Given the description of an element on the screen output the (x, y) to click on. 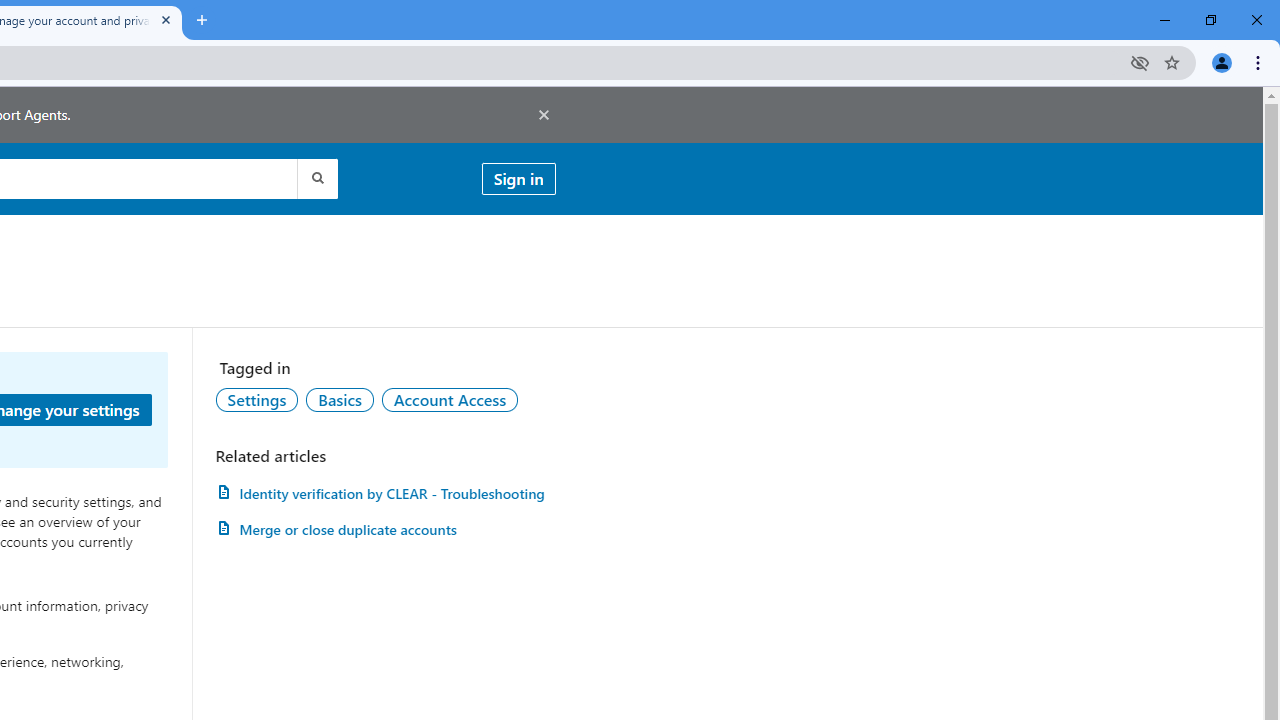
AutomationID: topic-link-a151002 (449, 399)
Identity verification by CLEAR - Troubleshooting (385, 493)
AutomationID: topic-link-a51 (339, 399)
AutomationID: topic-link-a149001 (257, 399)
